Given the description of an element on the screen output the (x, y) to click on. 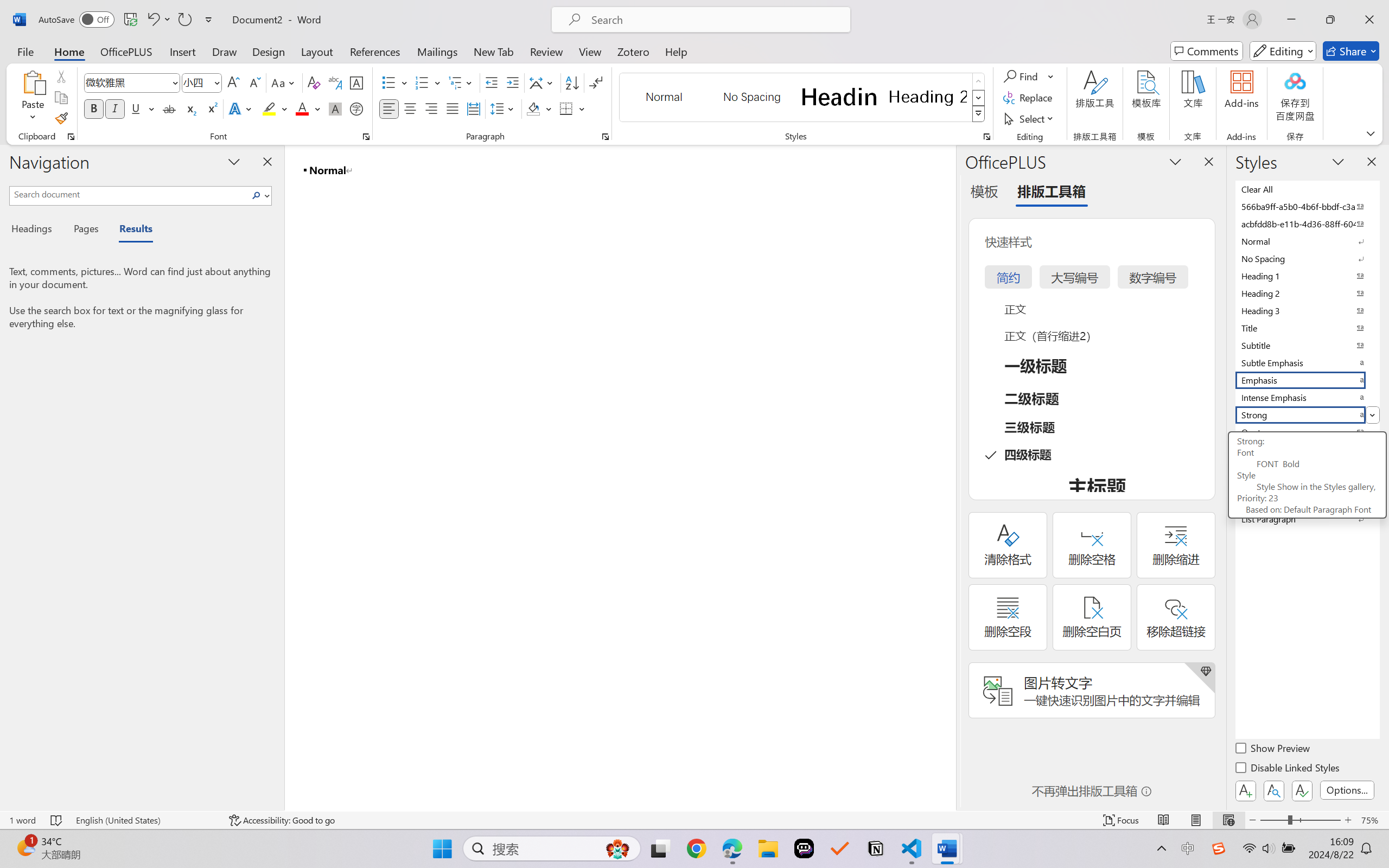
Heading 1 (839, 96)
Styles... (986, 136)
Quick Access Toolbar (127, 19)
View (589, 51)
AutomationID: BadgeAnchorLargeTicker (24, 847)
Increase Indent (512, 82)
Class: MsoCommandBar (694, 819)
Grow Font (233, 82)
Strikethrough (169, 108)
Asian Layout (542, 82)
Font Size (201, 82)
